Given the description of an element on the screen output the (x, y) to click on. 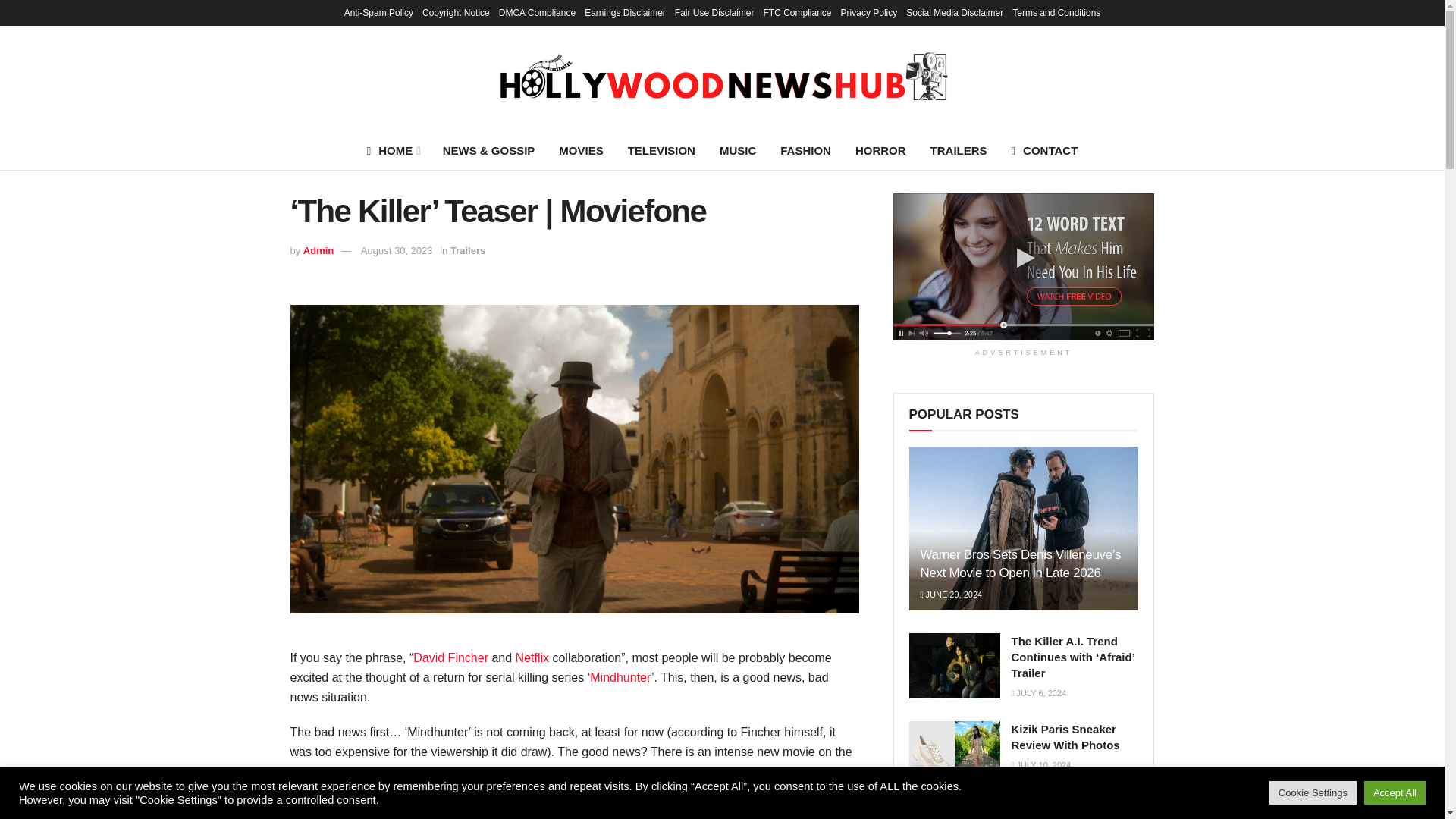
Admin (317, 250)
CONTACT (1044, 150)
Earnings Disclaimer (625, 12)
Anti-Spam Policy (378, 12)
MUSIC (737, 150)
HORROR (880, 150)
Trailers (466, 250)
Social Media Disclaimer (954, 12)
TRAILERS (958, 150)
Kizik Paris Sneaker Review With Photos (953, 753)
TELEVISION (661, 150)
Privacy Policy (869, 12)
FASHION (805, 150)
DMCA Compliance (537, 12)
Fair Use Disclaimer (714, 12)
